Given the description of an element on the screen output the (x, y) to click on. 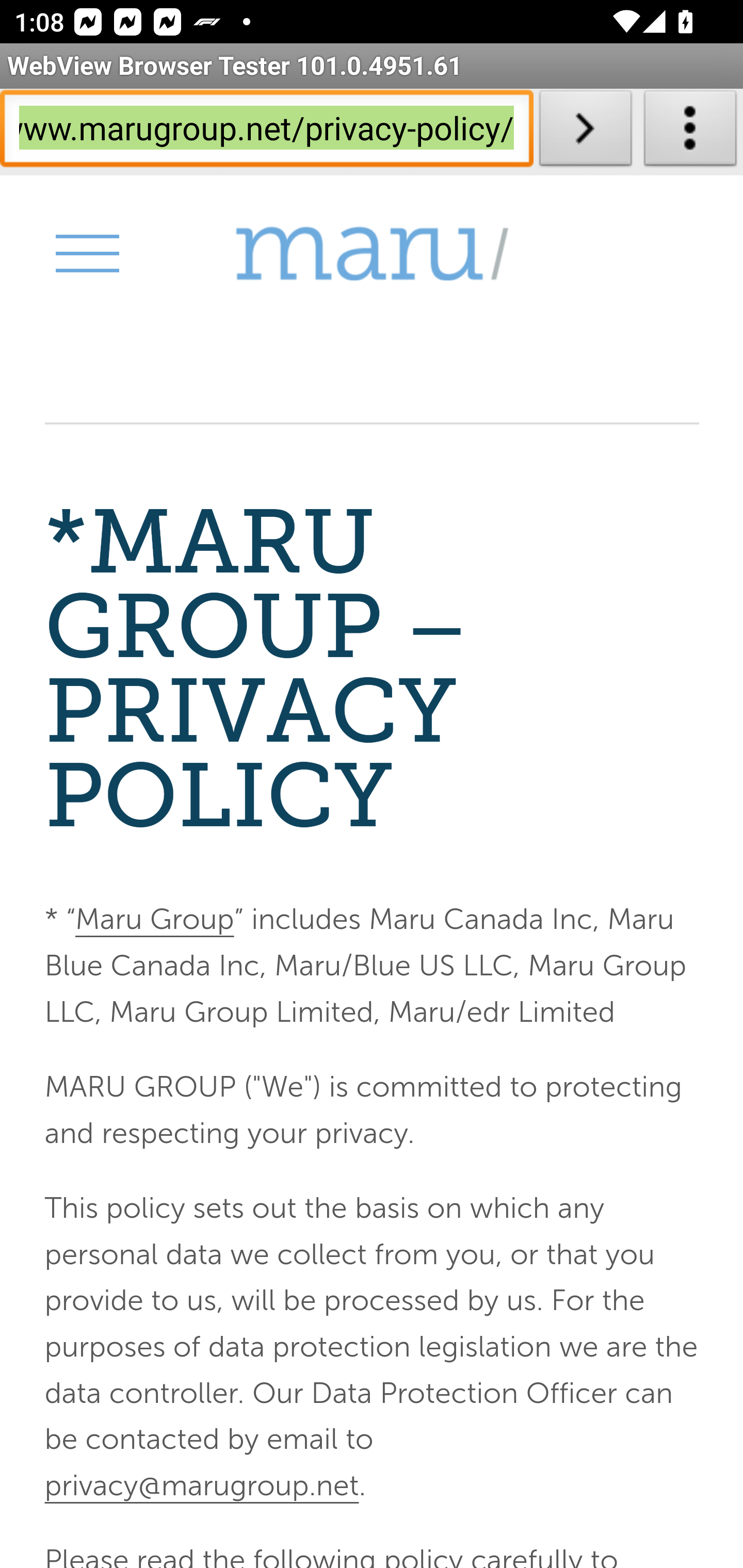
https://www.marugroup.net/privacy-policy/ (266, 132)
Load URL (585, 132)
About WebView (690, 132)
Open Menu (86, 252)
Maru Group (371, 253)
Maru Group (153, 920)
privacy@marugroup.net (200, 1484)
